Given the description of an element on the screen output the (x, y) to click on. 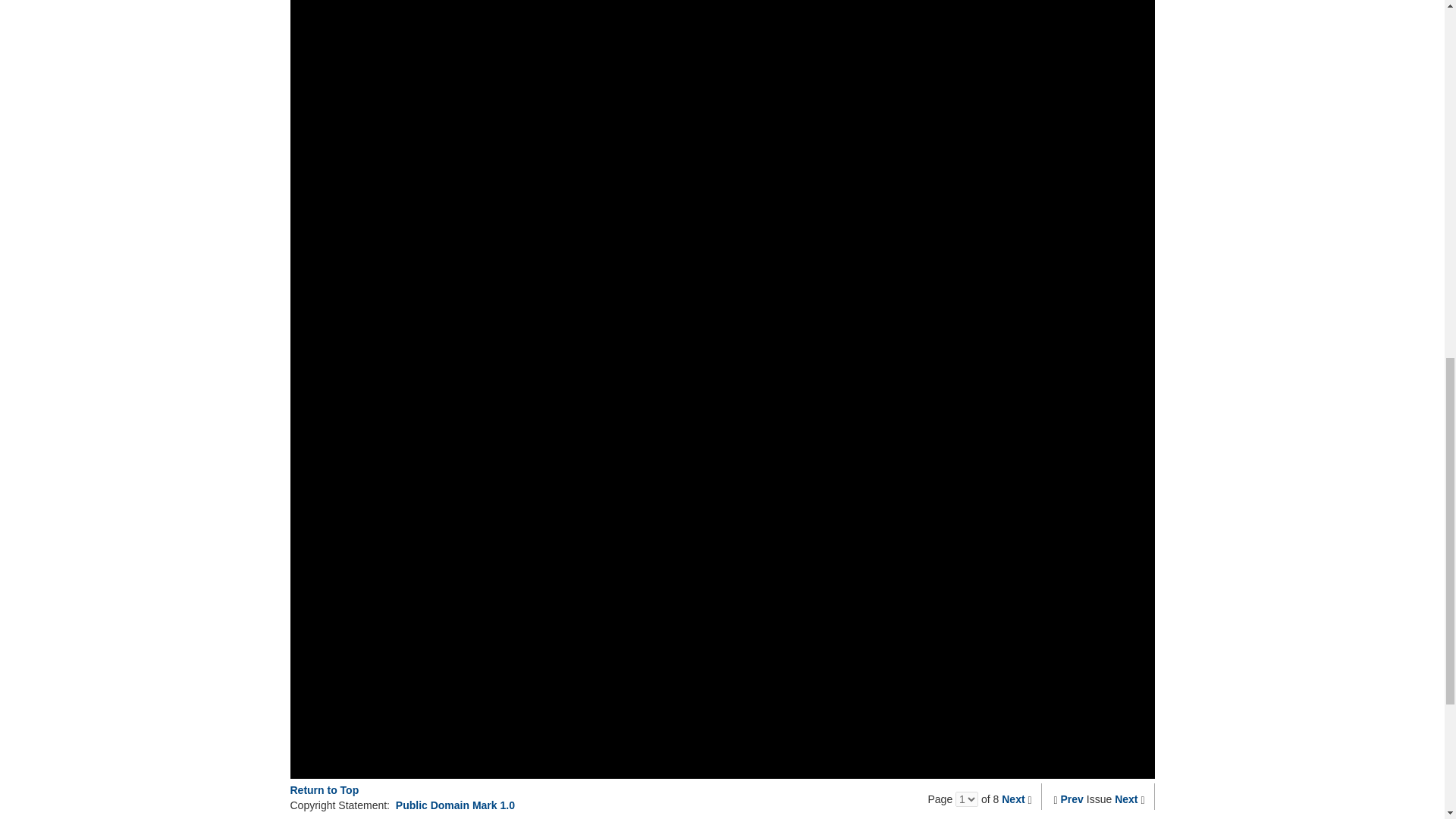
Return to Top (323, 789)
Next (1013, 799)
Next (1126, 799)
Public Domain Mark 1.0 (455, 805)
Prev (1072, 799)
